Given the description of an element on the screen output the (x, y) to click on. 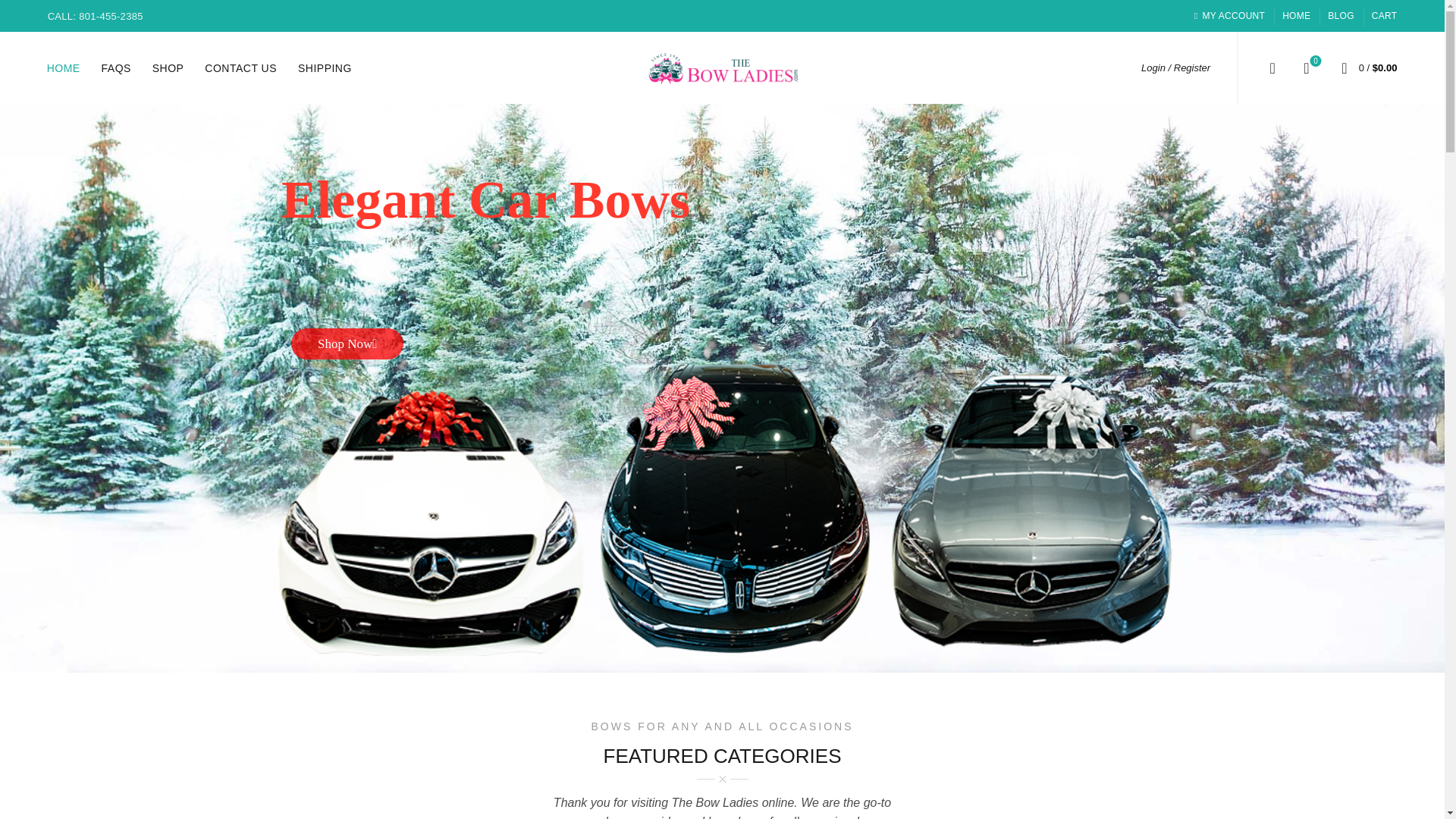
BLOG (1340, 15)
MY ACCOUNT (1229, 15)
SHIPPING (1306, 67)
FAQS (324, 67)
SHOP (116, 67)
CART (167, 67)
HOME (1384, 15)
HOME (1296, 15)
CONTACT US (63, 67)
